Given the description of an element on the screen output the (x, y) to click on. 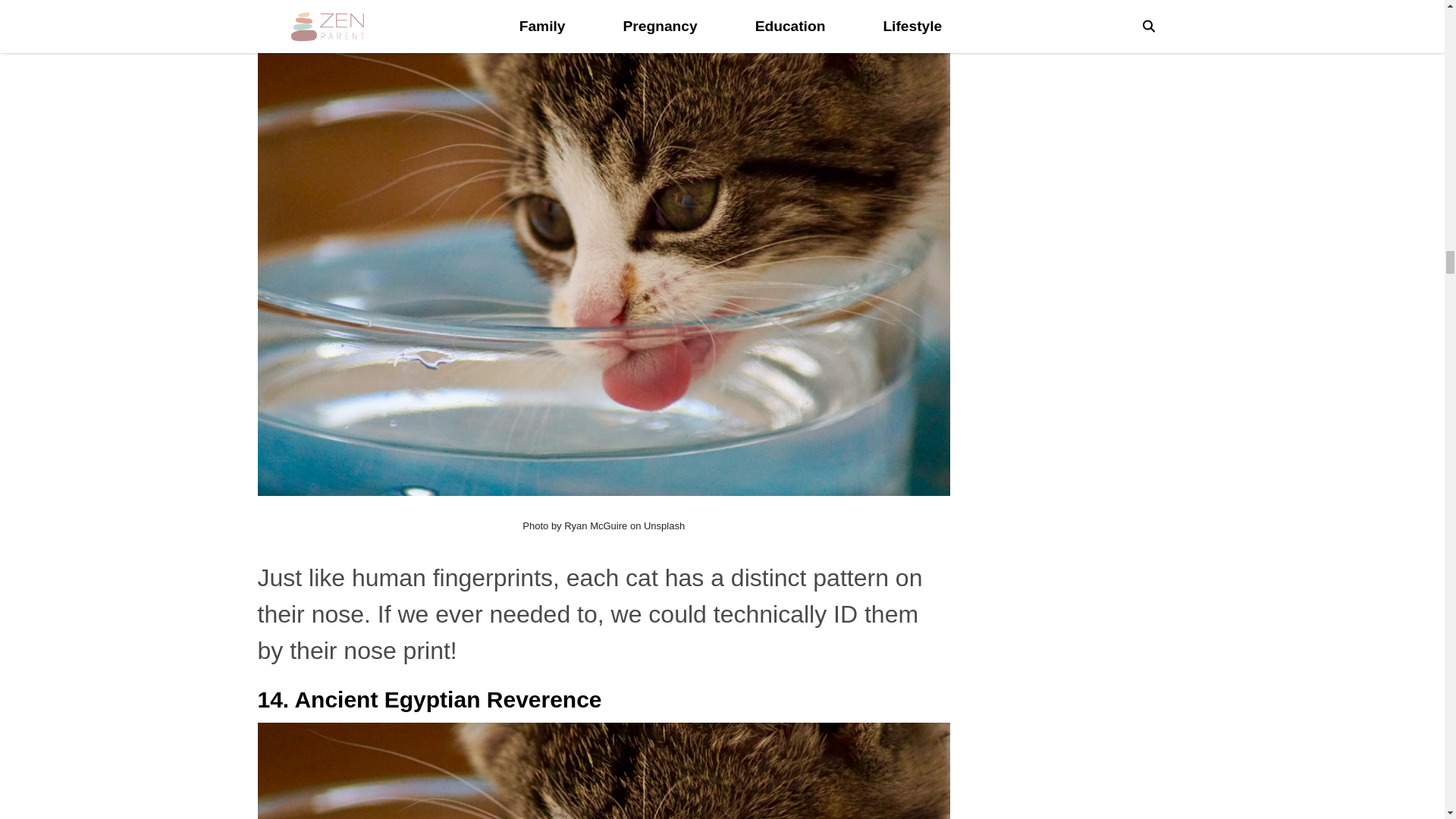
Photo by Ryan McGuire on Unsplash (603, 525)
